Given the description of an element on the screen output the (x, y) to click on. 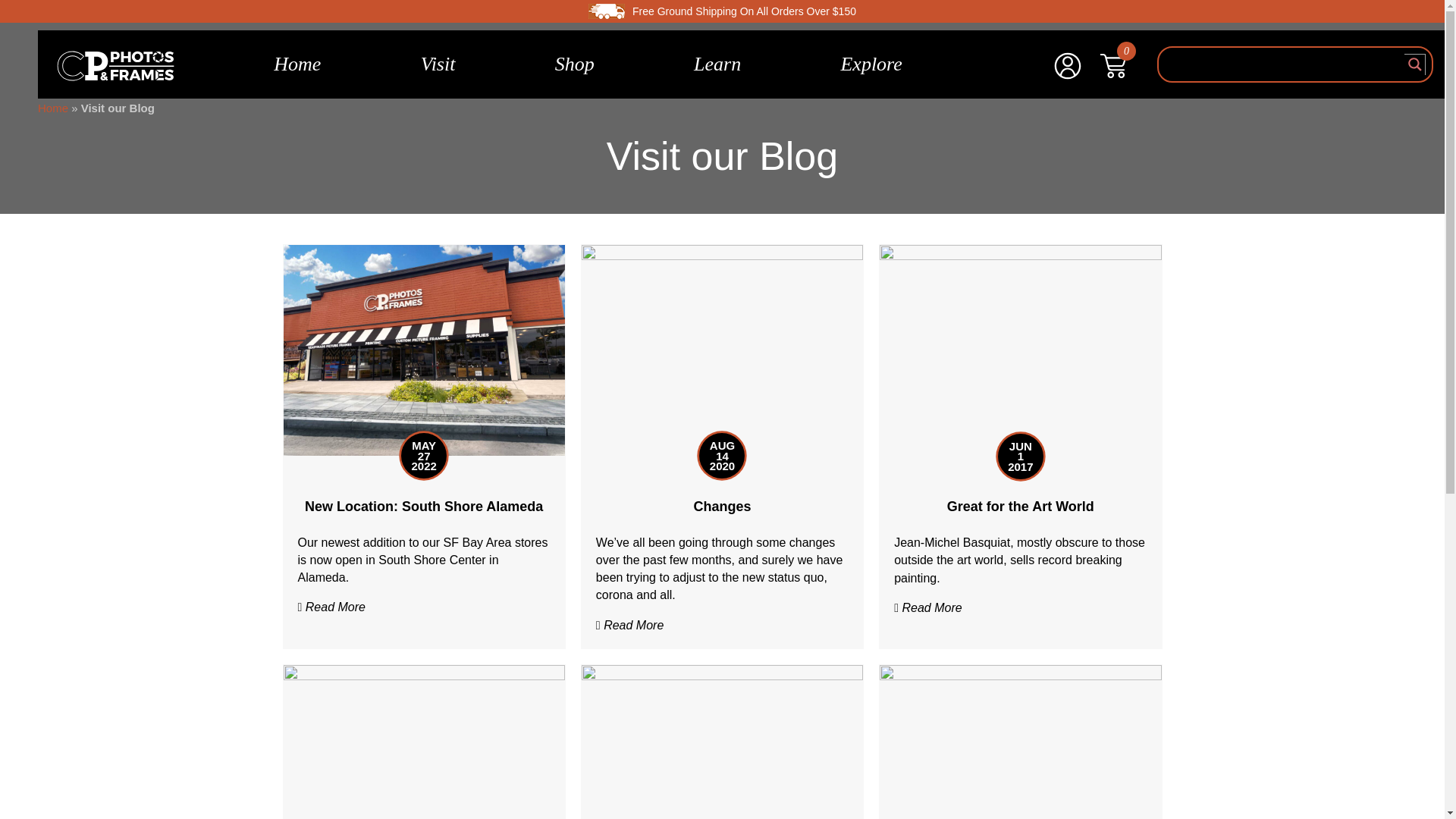
Home (297, 64)
Changes (721, 349)
New Location: South Shore Alameda (423, 506)
The Frame-O-Rama Relationship (721, 769)
Bay Area Built by US! (423, 769)
Great for the Art World (1020, 506)
New Location: South Shore Alameda (423, 349)
Changes (722, 506)
Great for the Art World (1019, 349)
